Given the description of an element on the screen output the (x, y) to click on. 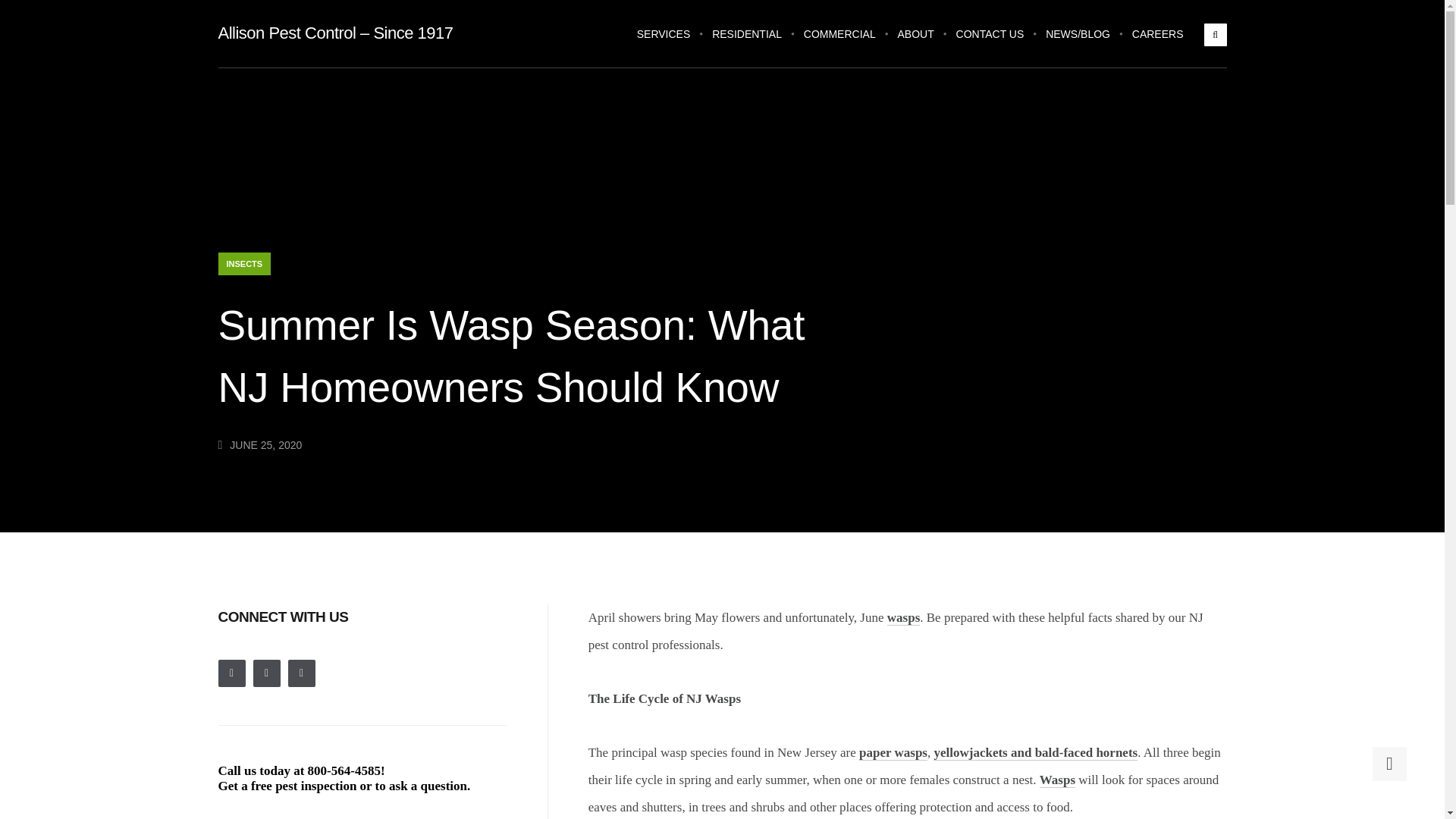
Twitter (232, 673)
Facebook (267, 673)
Google-plus (301, 673)
